Given the description of an element on the screen output the (x, y) to click on. 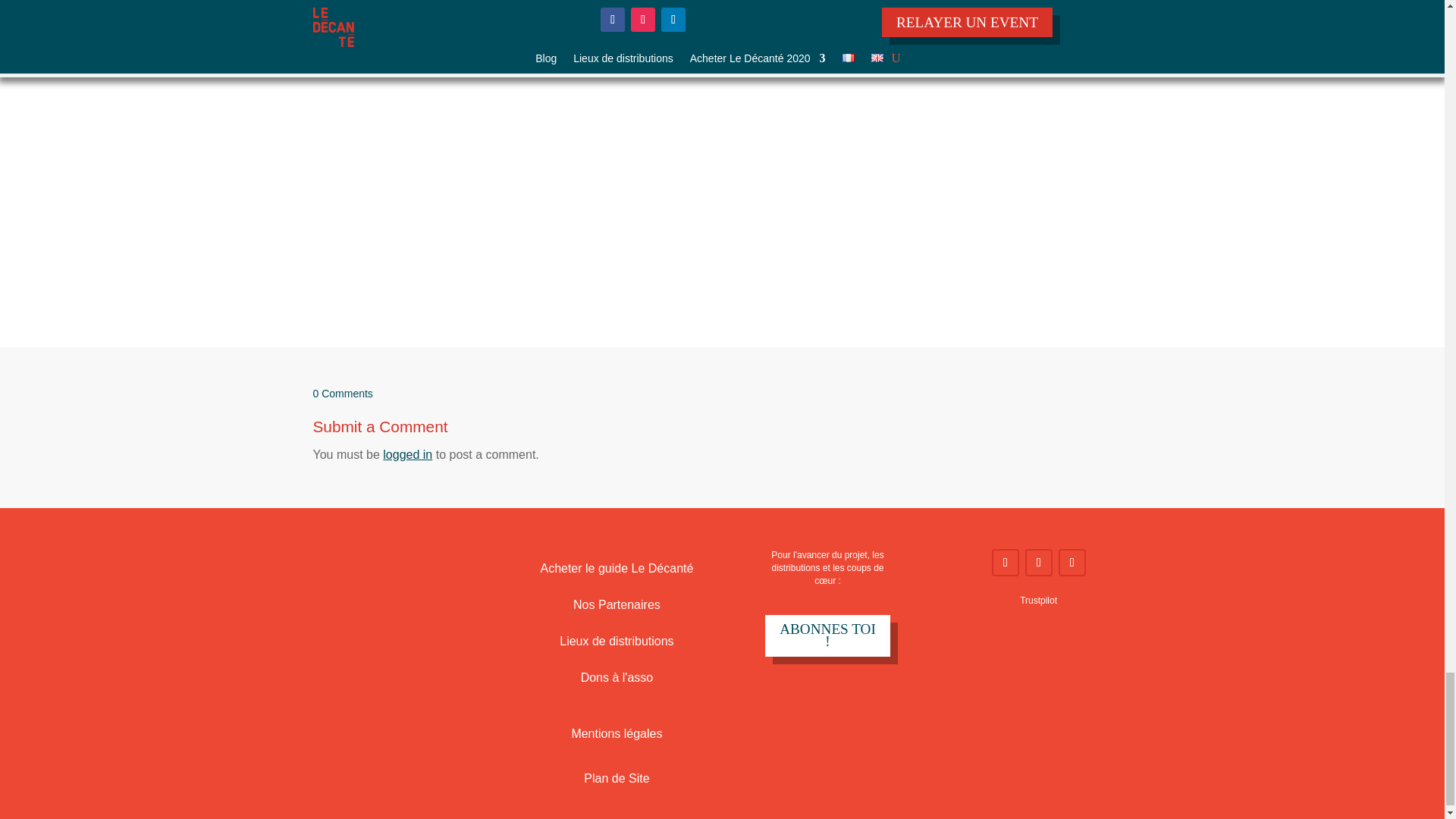
Follow on Facebook (1005, 562)
Follow on Instagram (1038, 562)
Lieux de distributions (615, 640)
Nos Partenaires (617, 604)
logged in (407, 454)
